Given the description of an element on the screen output the (x, y) to click on. 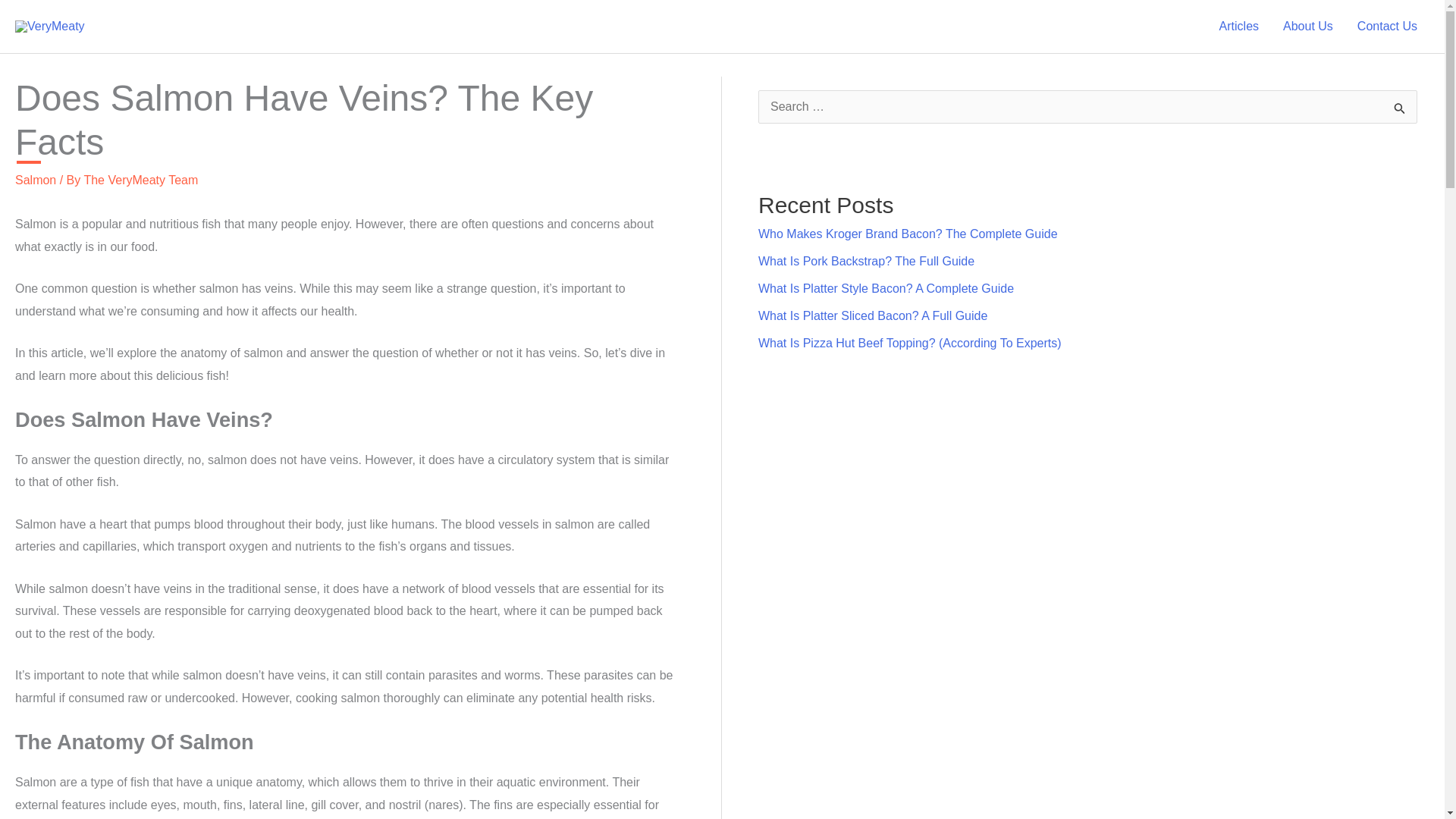
Salmon (35, 179)
What Is Platter Style Bacon? A Complete Guide (885, 287)
Articles (1239, 26)
The VeryMeaty Team (140, 179)
Contact Us (1387, 26)
Who Makes Kroger Brand Bacon? The Complete Guide (908, 233)
What Is Platter Sliced Bacon? A Full Guide (872, 315)
About Us (1308, 26)
View all posts by The VeryMeaty Team (140, 179)
What Is Pork Backstrap? The Full Guide (866, 260)
